Given the description of an element on the screen output the (x, y) to click on. 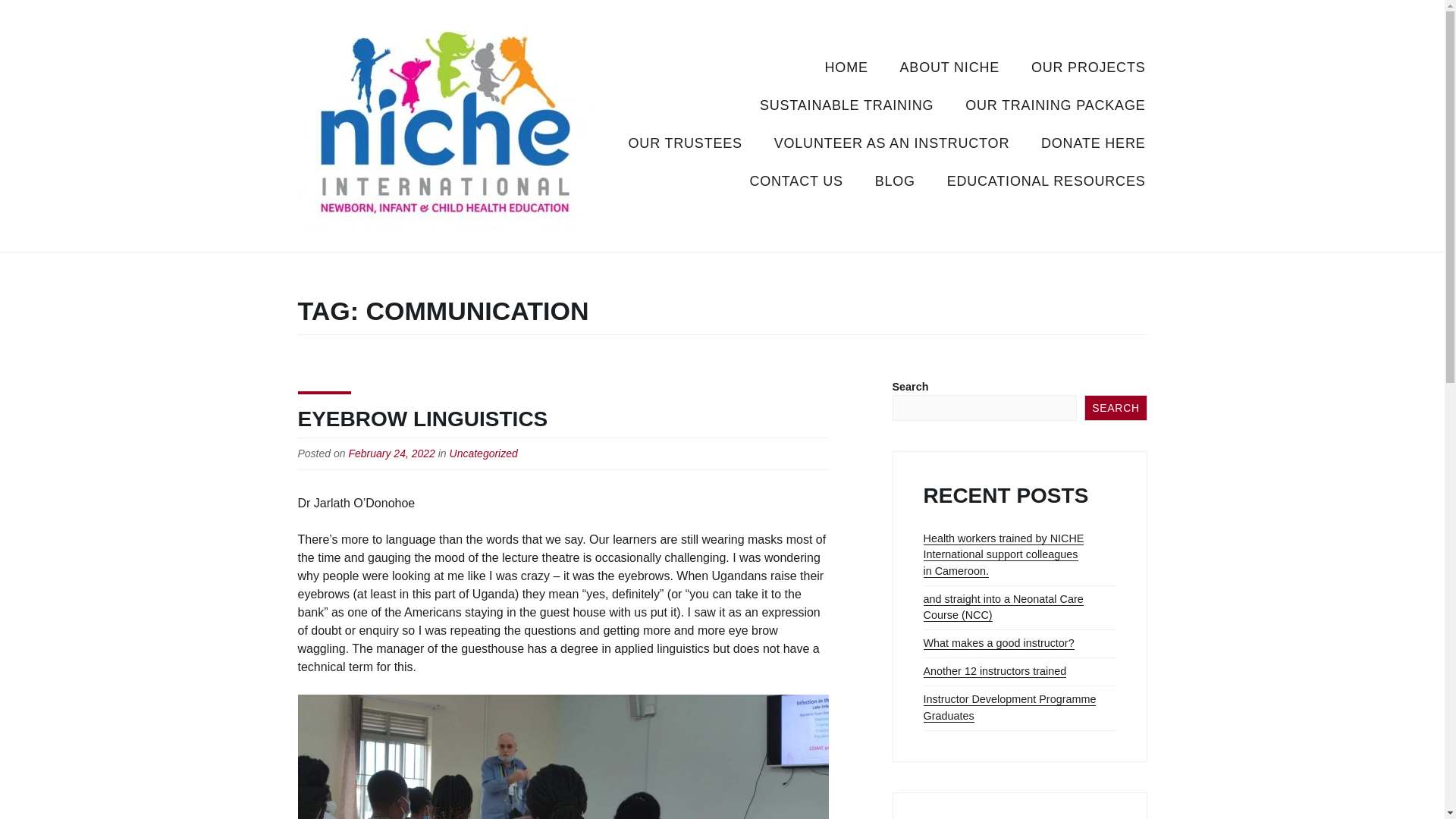
Uncategorized (483, 454)
VOLUNTEER AS AN INSTRUCTOR (892, 144)
EYEBROW LINGUISTICS (422, 419)
Instructor Development Programme Graduates (1009, 707)
OUR TRAINING PACKAGE (1054, 106)
February 24, 2022 (390, 454)
OUR PROJECTS (1087, 68)
NICHE INTERNATIONAL (444, 251)
SEARCH (1115, 407)
What makes a good instructor? (998, 643)
BLOG (895, 182)
ABOUT NICHE (949, 68)
SUSTAINABLE TRAINING (846, 106)
Another 12 instructors trained (995, 671)
